Given the description of an element on the screen output the (x, y) to click on. 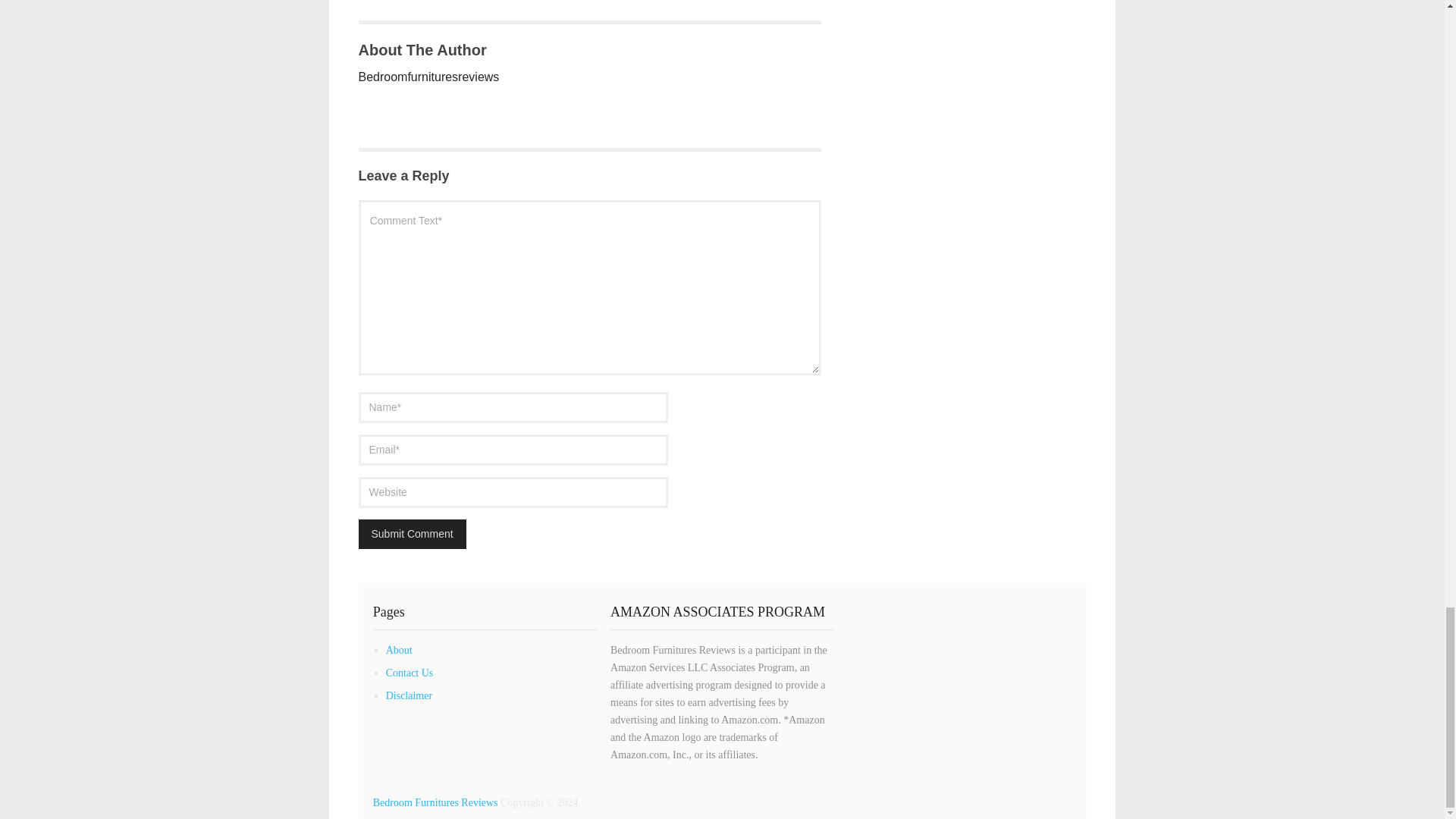
Bedroomfurnituresreviews (428, 76)
Submit Comment (411, 533)
Submit Comment (411, 533)
About (398, 650)
